Given the description of an element on the screen output the (x, y) to click on. 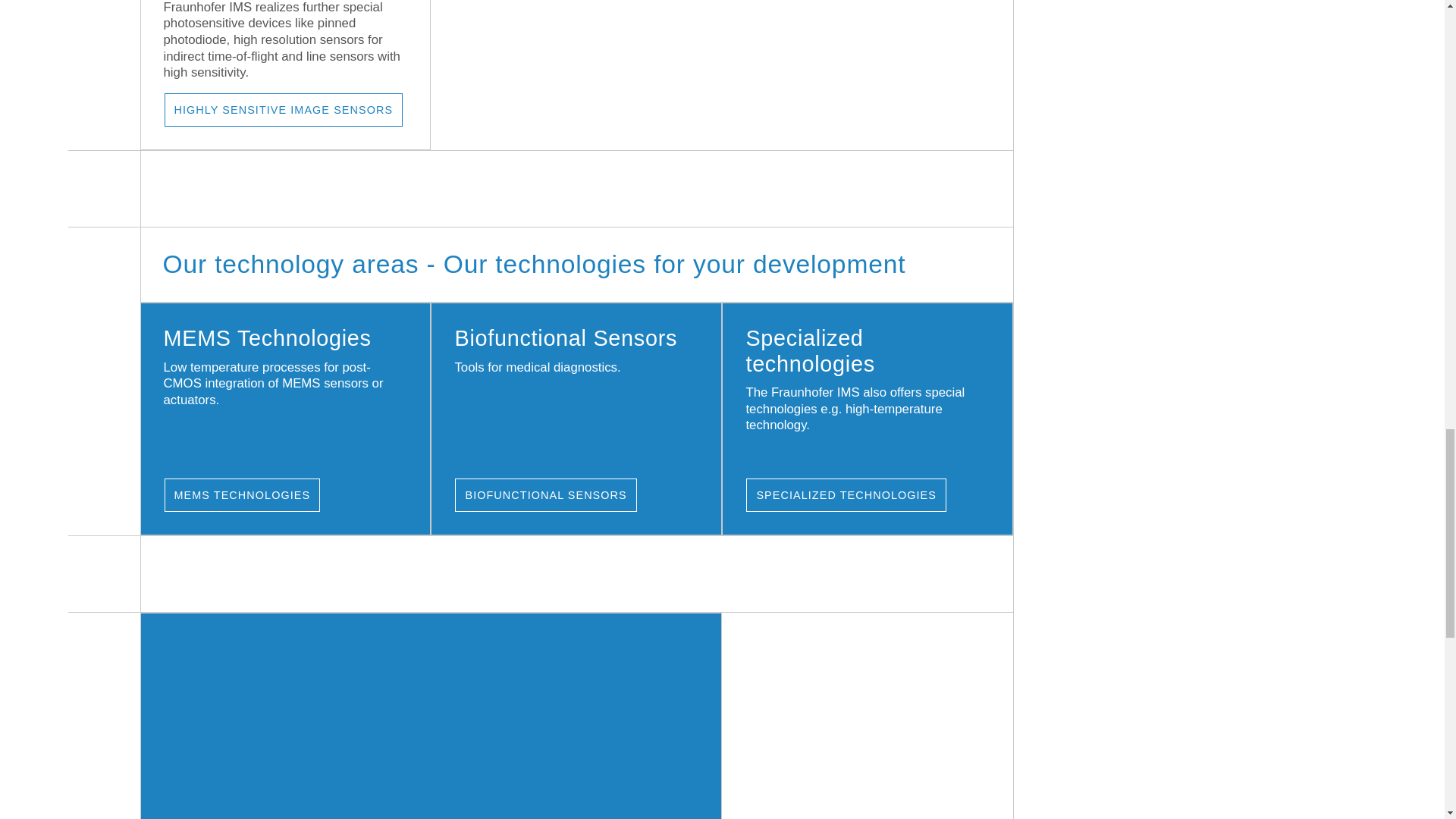
Here you come to our technologies of MEMS Technologies (241, 494)
Go back to Technology Overview-page (431, 716)
Here you come to our technologies of Biofunctional Sensors (545, 494)
Click here to go to Other photodetectors (283, 109)
